Given the description of an element on the screen output the (x, y) to click on. 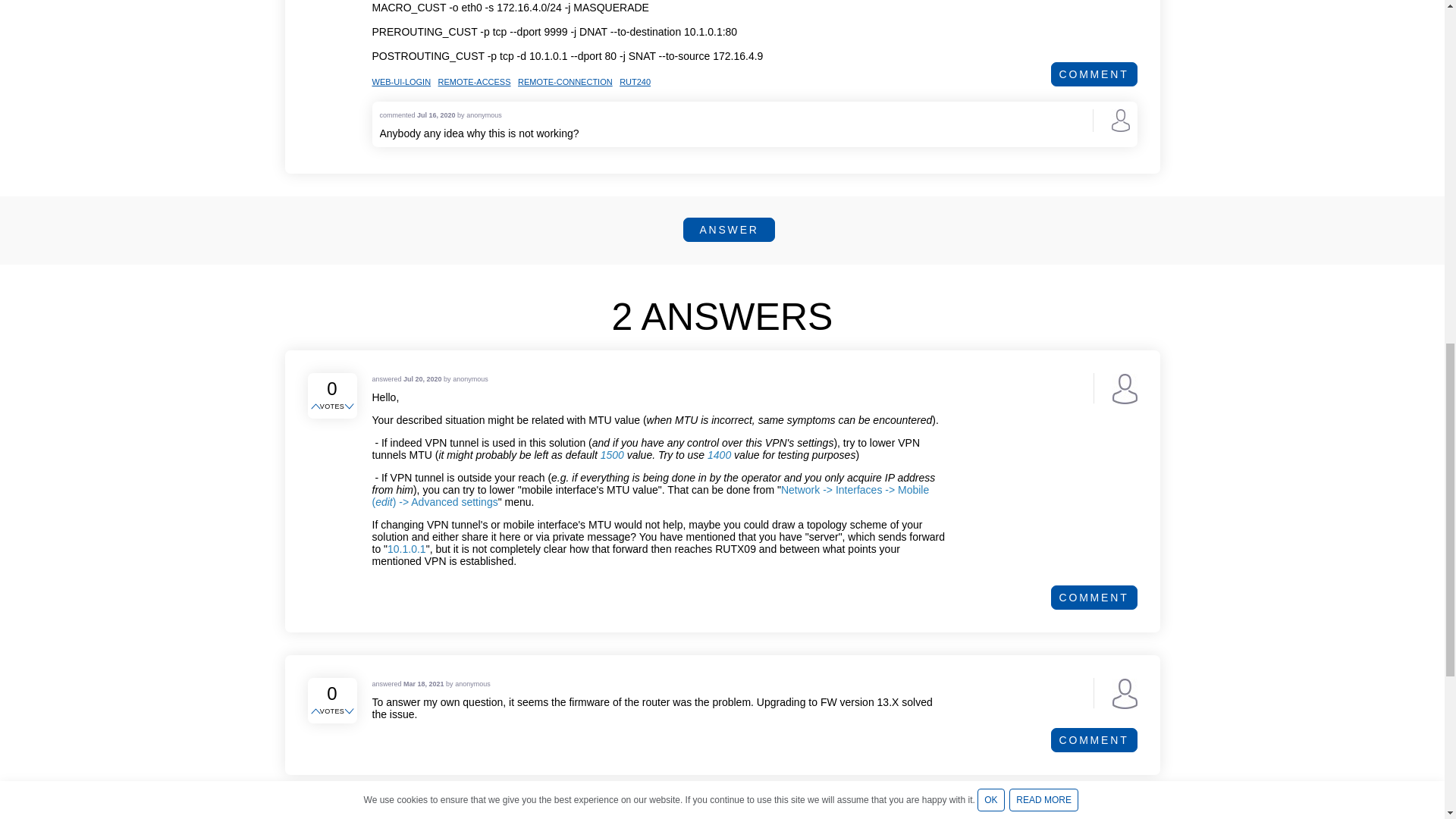
Add a comment on this answer (1094, 597)
Add a comment on this question (1094, 74)
comment (1094, 740)
comment (1094, 597)
Add a comment on this answer (1094, 740)
answer (728, 229)
comment (1094, 74)
Click to vote down (349, 711)
Click to vote up (317, 711)
Click to vote up (317, 407)
Click to vote down (349, 407)
Answer this question (728, 229)
